Given the description of an element on the screen output the (x, y) to click on. 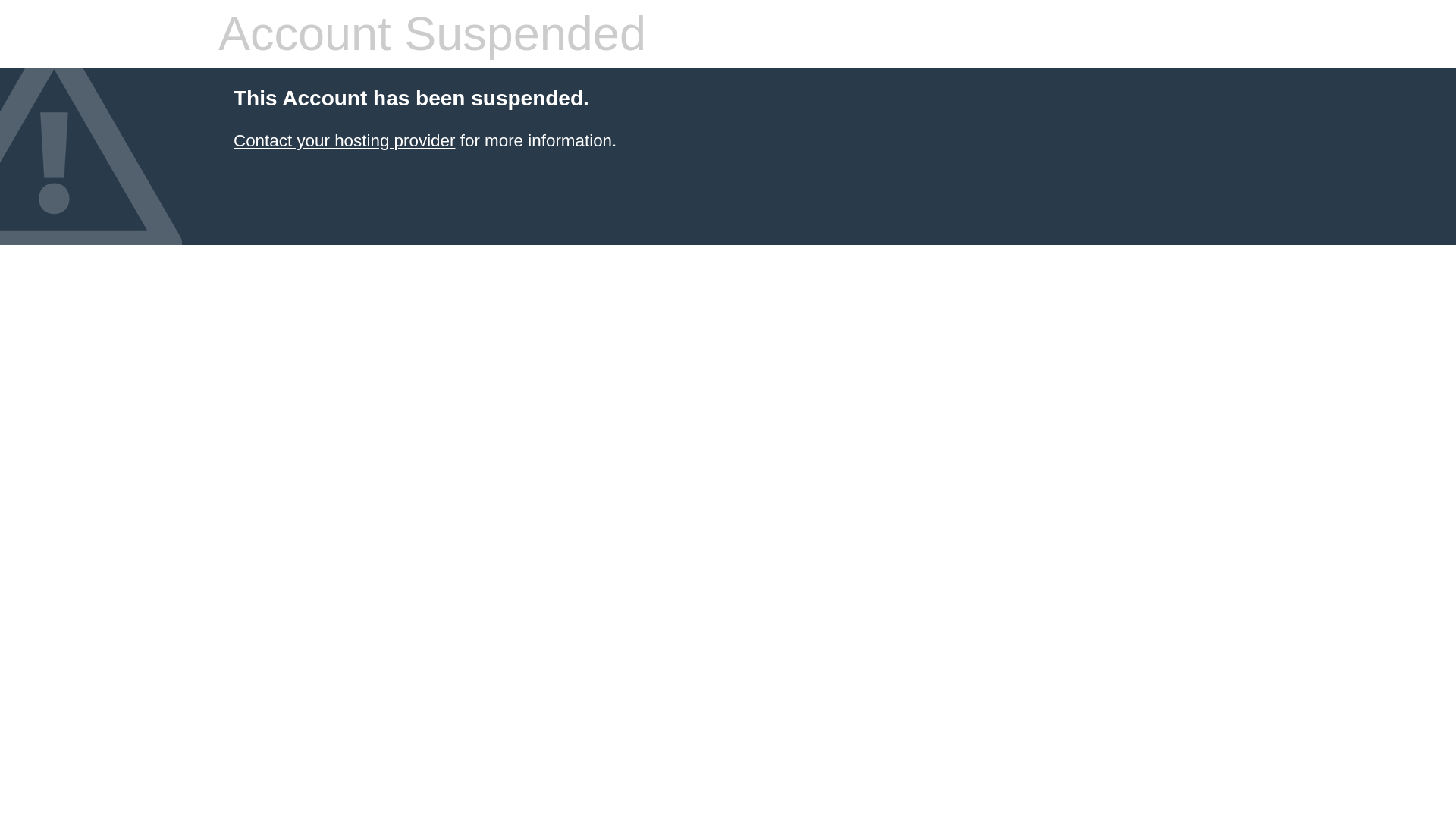
Contact your hosting provider (343, 140)
Advocate Printing and Publishing (343, 140)
